Given the description of an element on the screen output the (x, y) to click on. 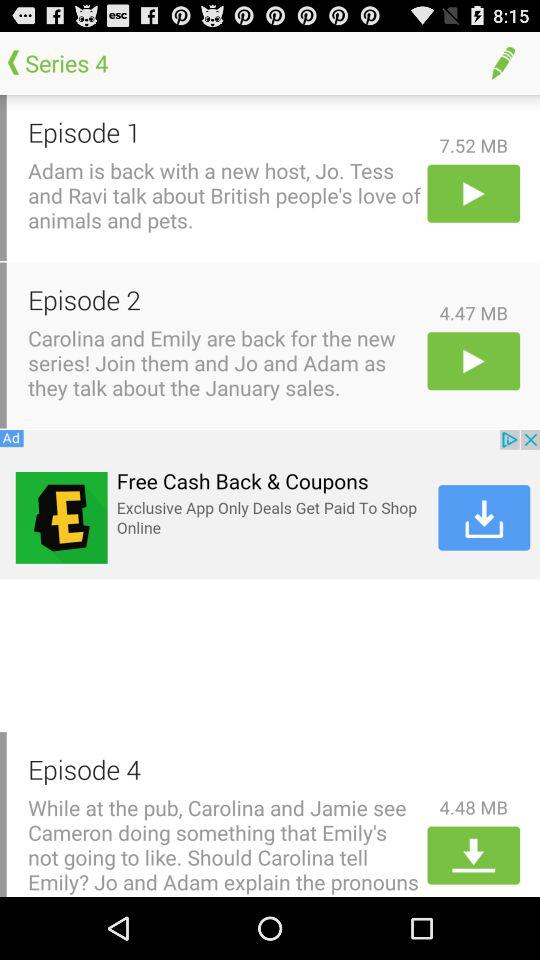
click to play 1 (473, 193)
